Given the description of an element on the screen output the (x, y) to click on. 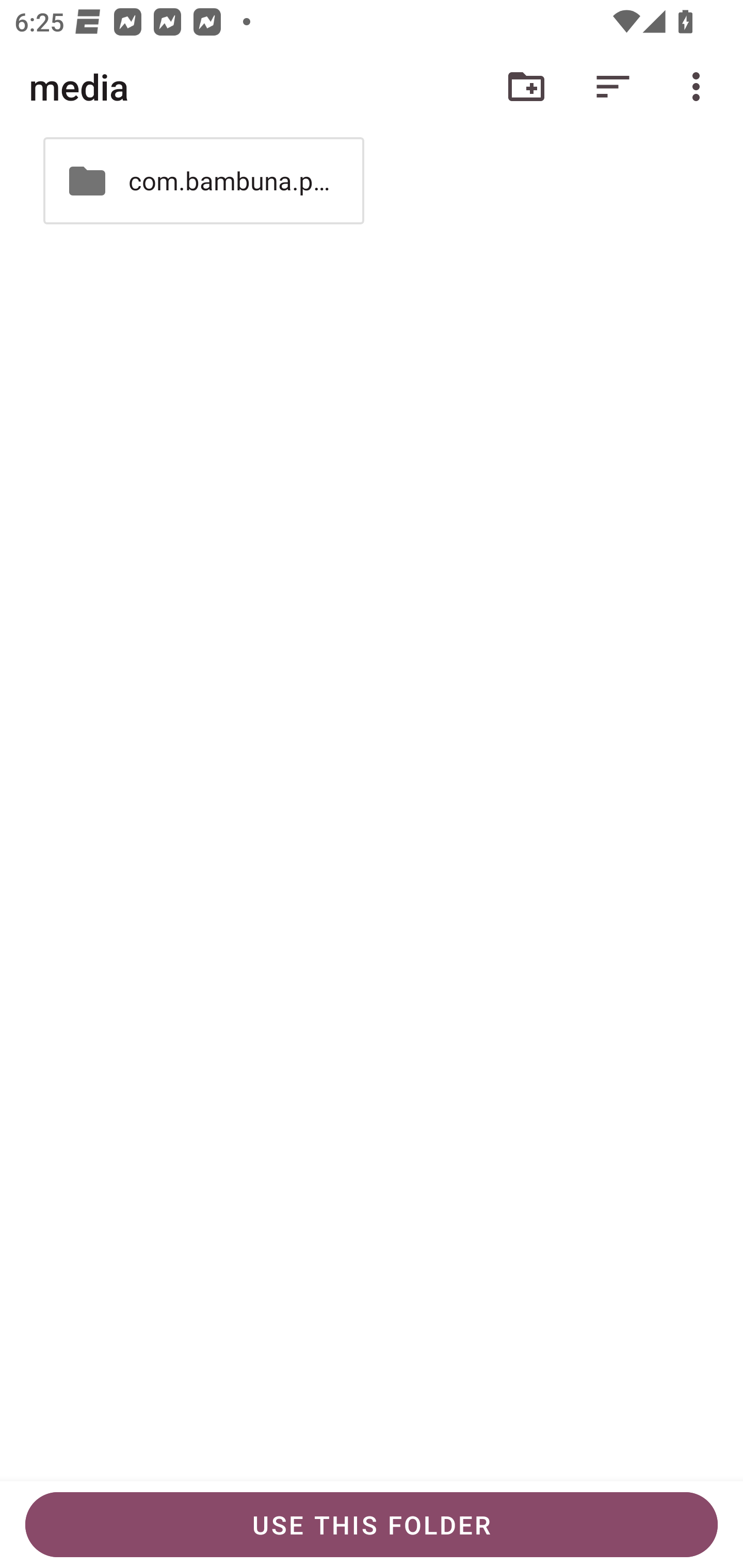
New folder (525, 86)
Sort by... (612, 86)
More options (699, 86)
com.bambuna.podcastaddict (203, 180)
USE THIS FOLDER (371, 1524)
